Given the description of an element on the screen output the (x, y) to click on. 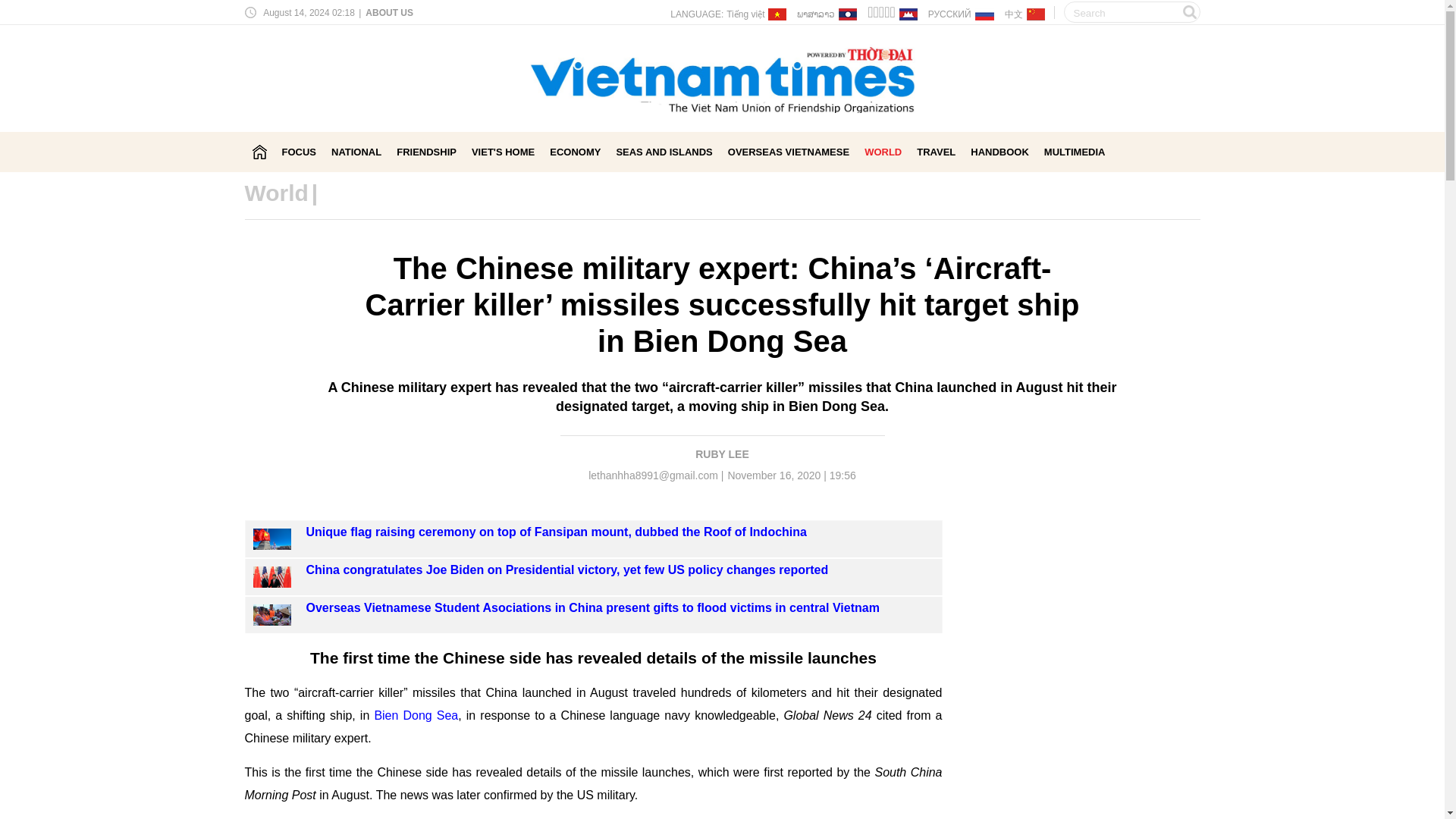
Vietnam Times (258, 151)
World (275, 192)
ABOUT US (388, 12)
VIET'S HOME (502, 152)
ECONOMY (574, 152)
MULTIMEDIA (1074, 152)
